Given the description of an element on the screen output the (x, y) to click on. 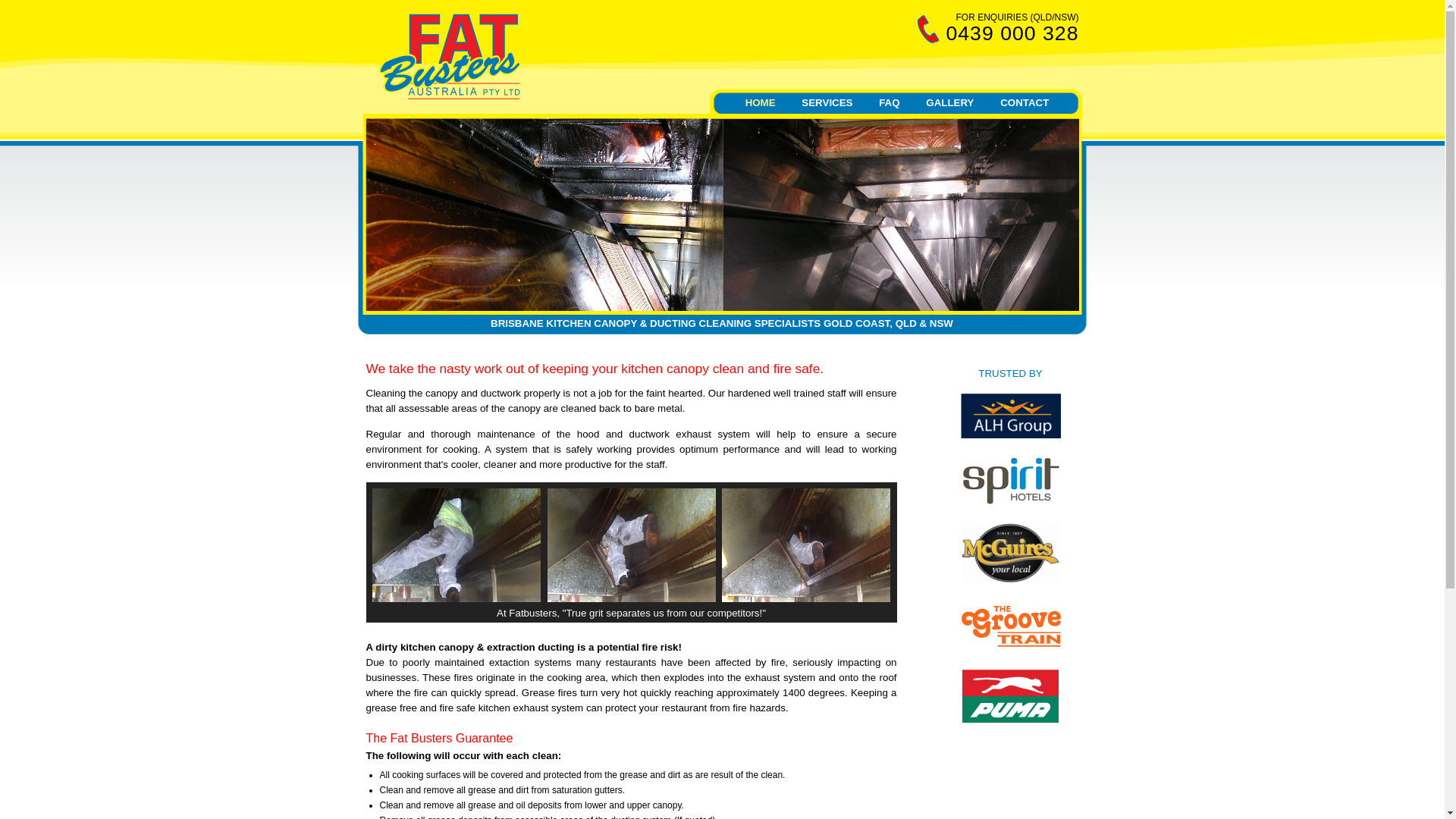
FAQ Element type: text (889, 102)
GALLERY Element type: text (949, 102)
CONTACT Element type: text (1024, 102)
HOME Element type: text (760, 102)
Fat Busters Canopy & Ducting Cleaning Specialists Element type: hover (448, 95)
SERVICES Element type: text (826, 102)
